Given the description of an element on the screen output the (x, y) to click on. 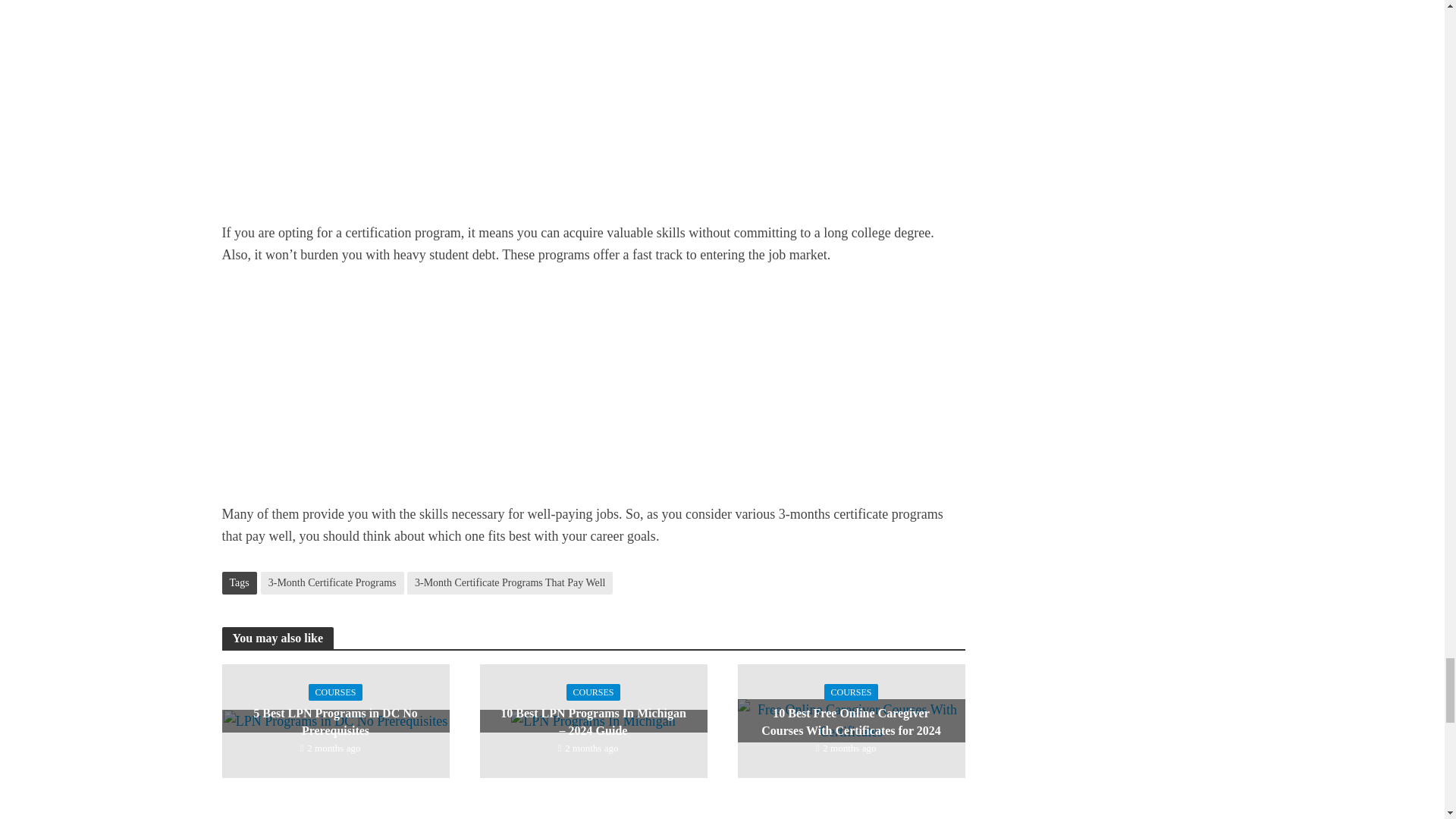
5 Best LPN Programs in DC No Prerequisites (335, 720)
